Given the description of an element on the screen output the (x, y) to click on. 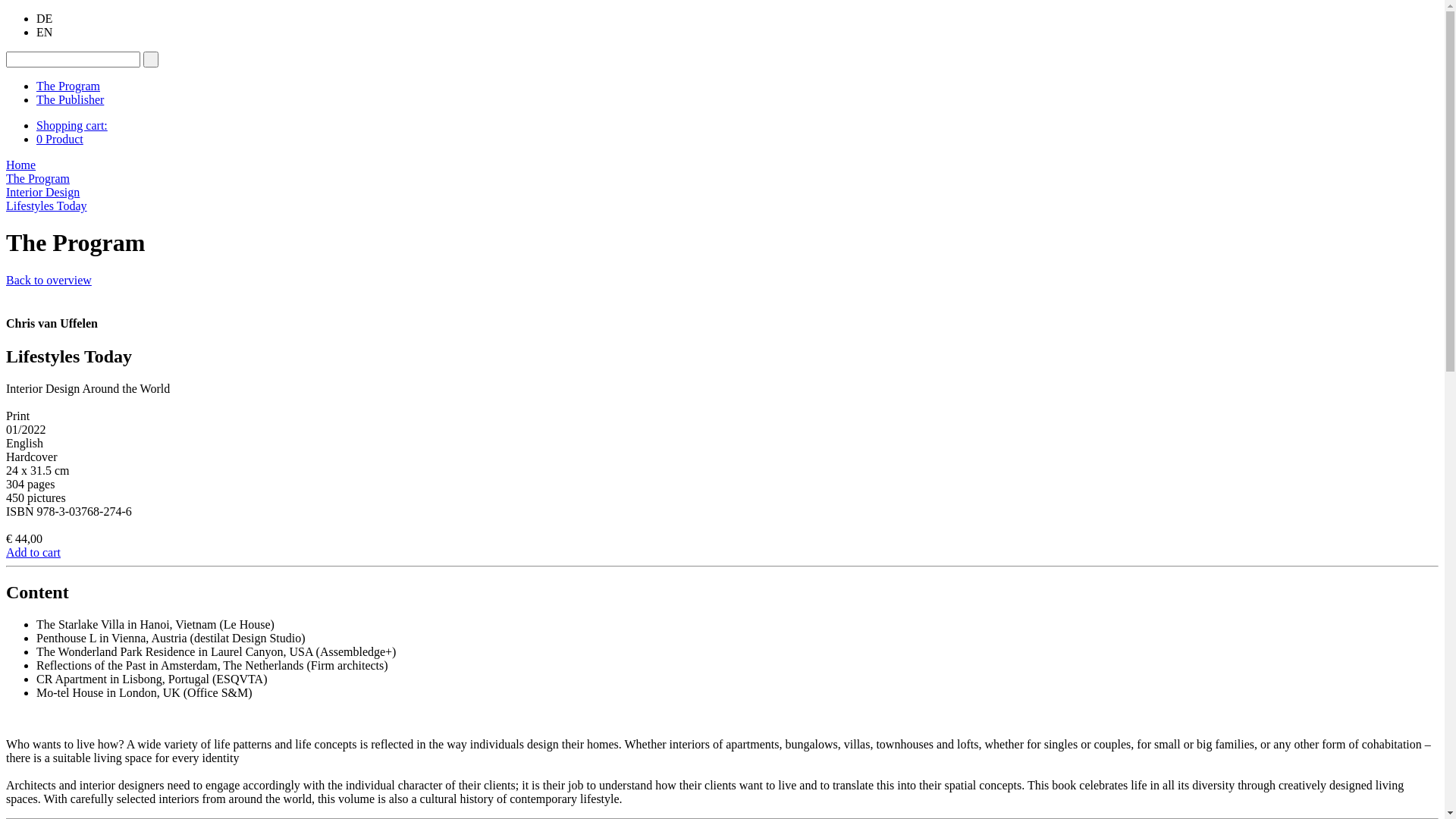
The Publisher Element type: text (69, 99)
Shopping cart: Element type: text (71, 125)
Back to overview Element type: text (48, 279)
DE Element type: text (44, 18)
EN Element type: text (44, 31)
0 Product Element type: text (59, 138)
Lifestyles Today Element type: text (46, 205)
Add to cart Element type: text (33, 552)
Interior Design Element type: text (42, 191)
The Program Element type: text (37, 178)
Home Element type: text (20, 164)
The Program Element type: text (68, 85)
Print Element type: text (17, 415)
